Given the description of an element on the screen output the (x, y) to click on. 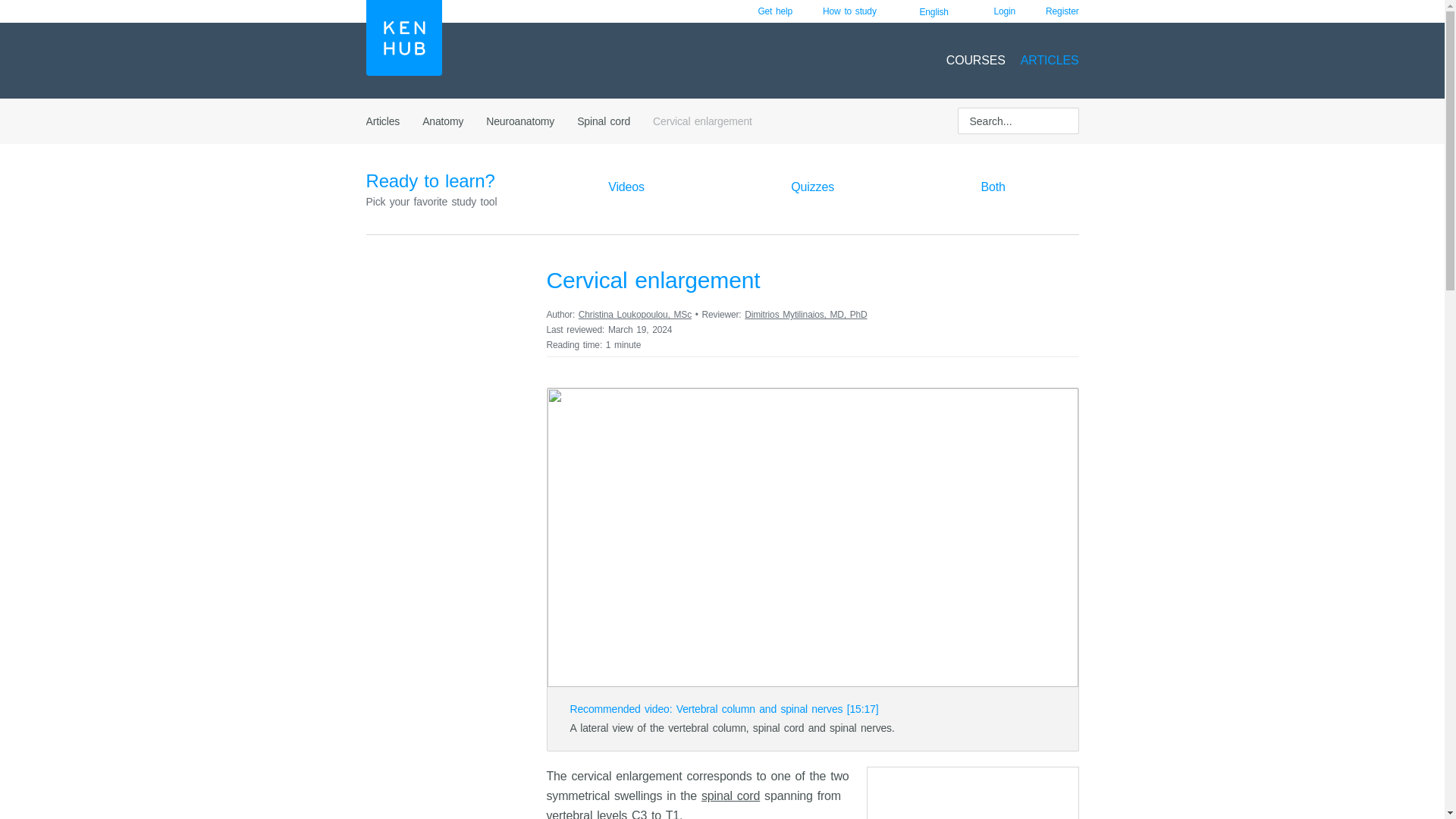
Anatomy (442, 121)
Spinal cord (603, 121)
Neuroanatomy (520, 121)
Articles (381, 121)
